Given the description of an element on the screen output the (x, y) to click on. 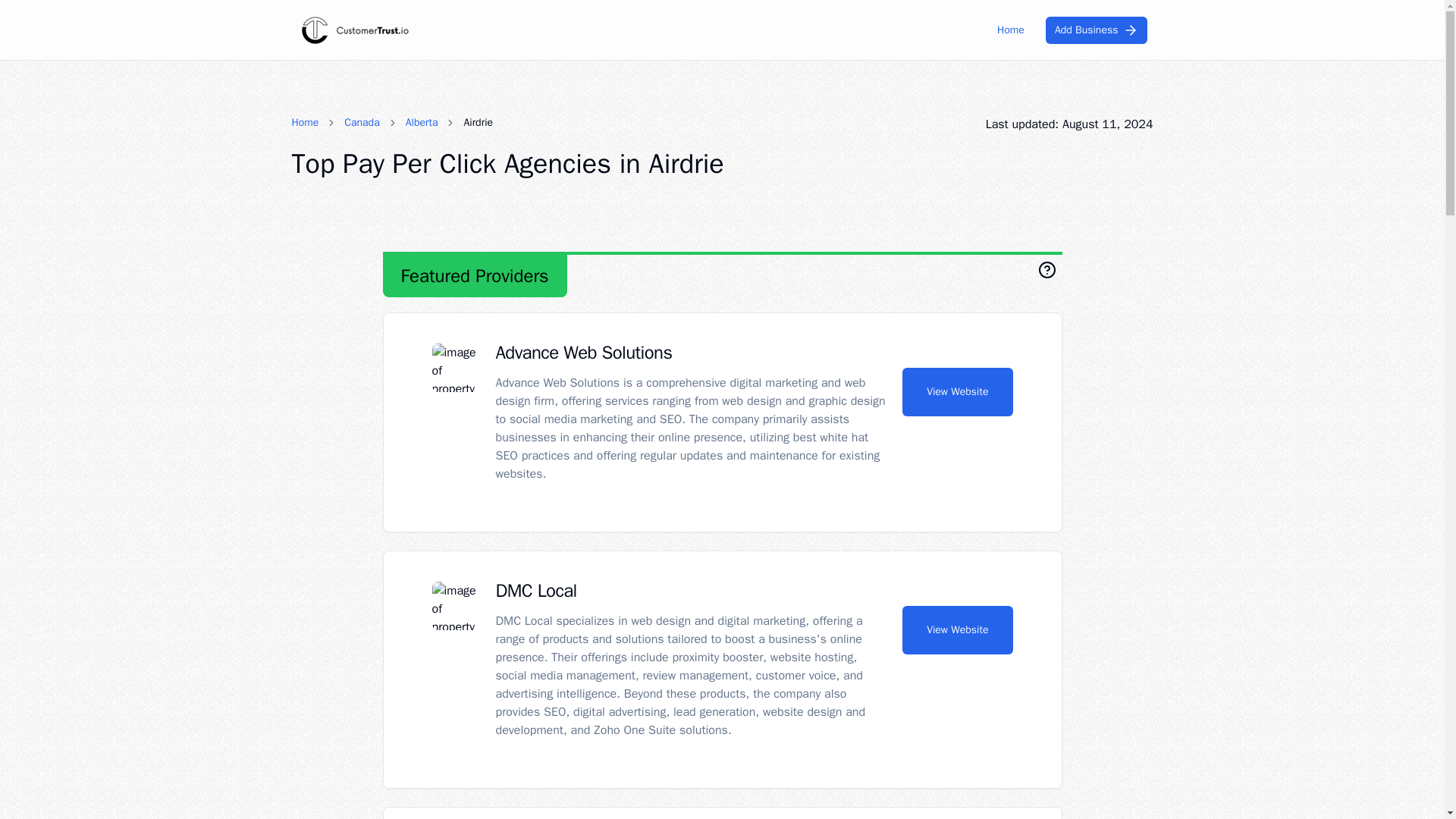
Alberta (422, 122)
Canada (360, 122)
Add Business (1096, 30)
Home (1010, 30)
View Website (956, 391)
View Website (956, 630)
Home (304, 122)
